Given the description of an element on the screen output the (x, y) to click on. 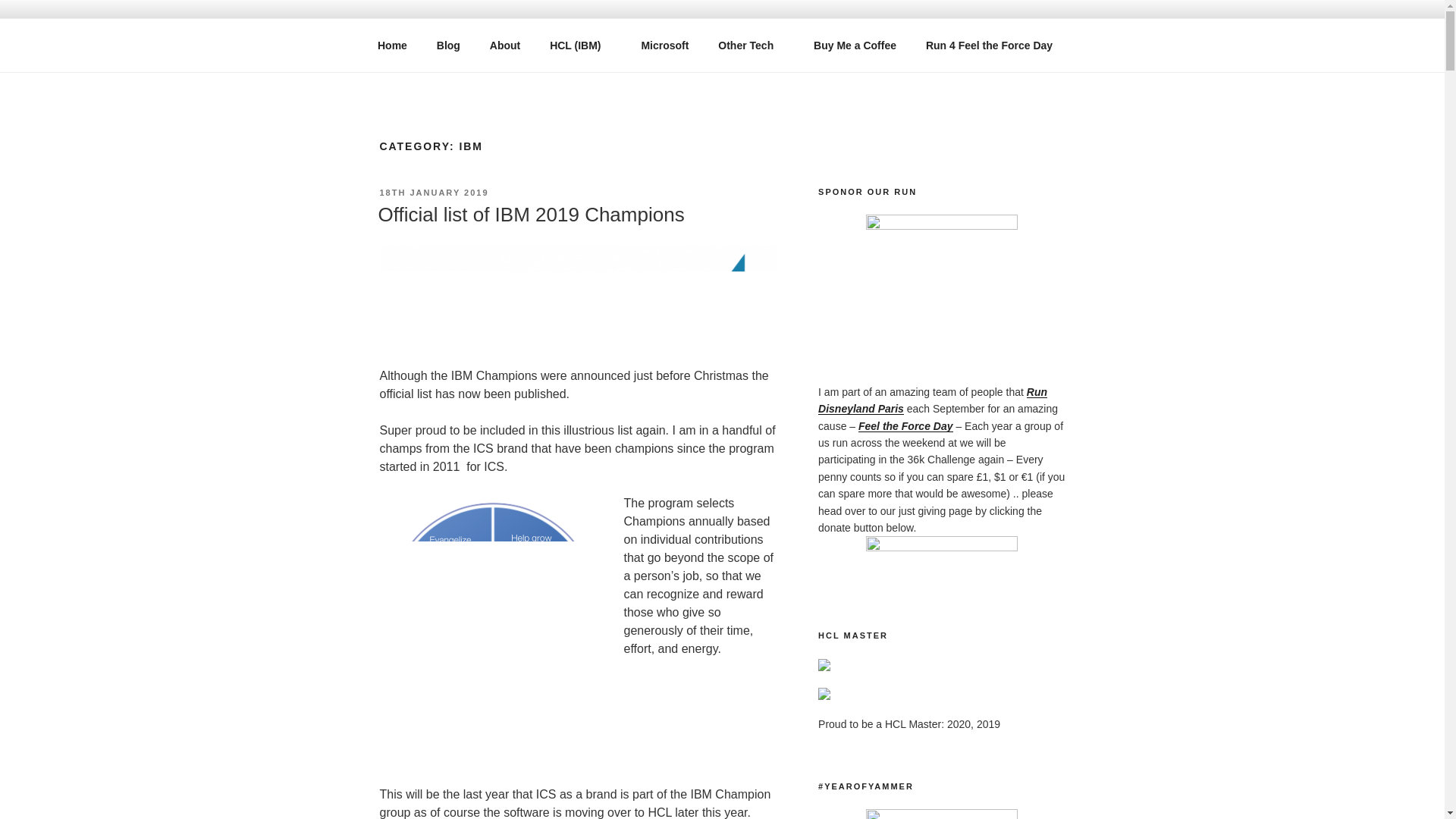
Home (392, 45)
Run 4 Feel the Force Day (988, 45)
Blog (448, 45)
Other Tech (750, 45)
SOCIALSHAZZA (499, 52)
About (504, 45)
Official list of IBM 2019 Champions (530, 214)
Buy Me a Coffee (855, 45)
Microsoft (664, 45)
18TH JANUARY 2019 (432, 192)
